Given the description of an element on the screen output the (x, y) to click on. 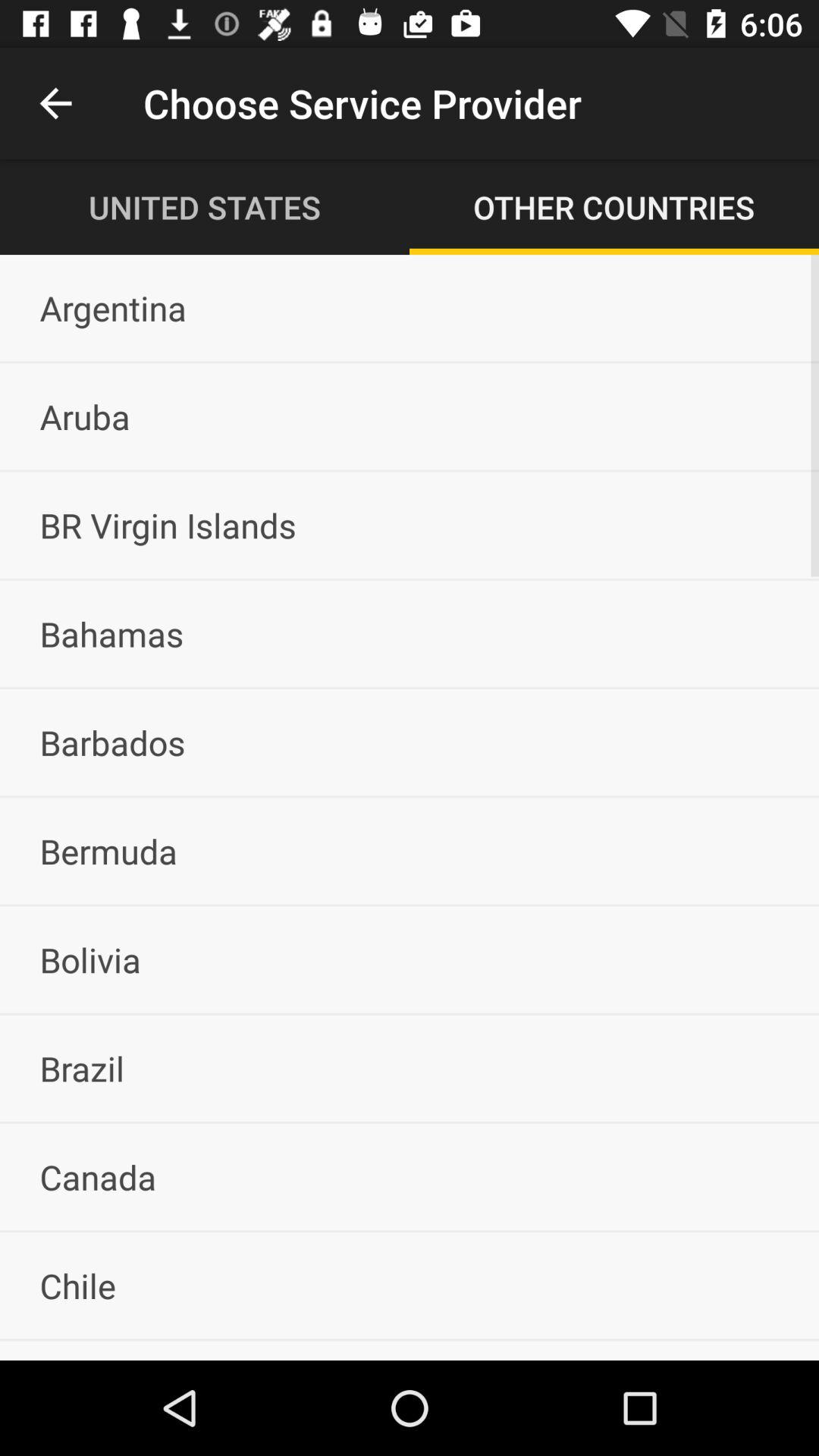
press the icon below the bahamas (409, 742)
